Given the description of an element on the screen output the (x, y) to click on. 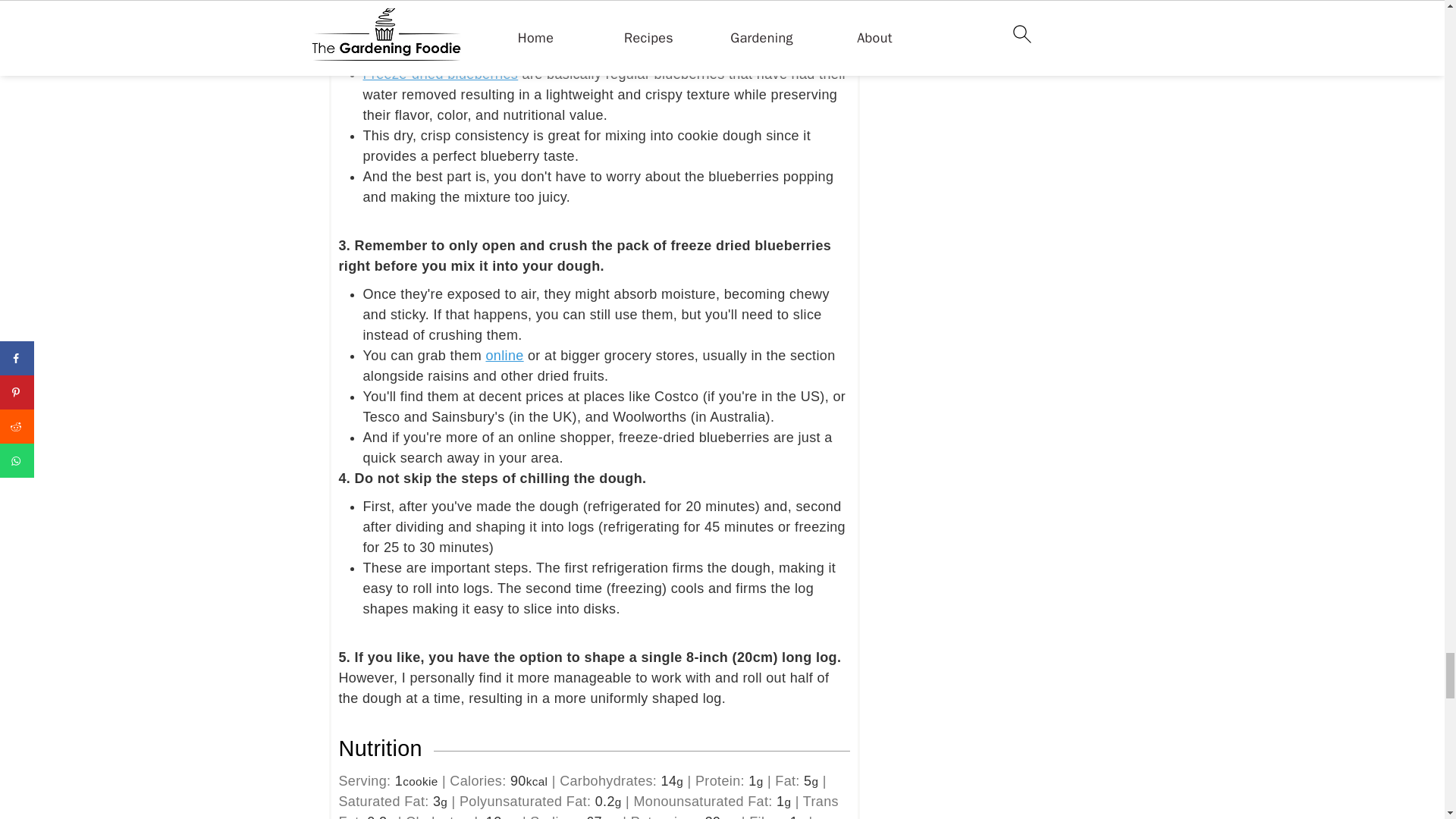
Freeze-dried blueberries (440, 73)
online (503, 355)
